Given the description of an element on the screen output the (x, y) to click on. 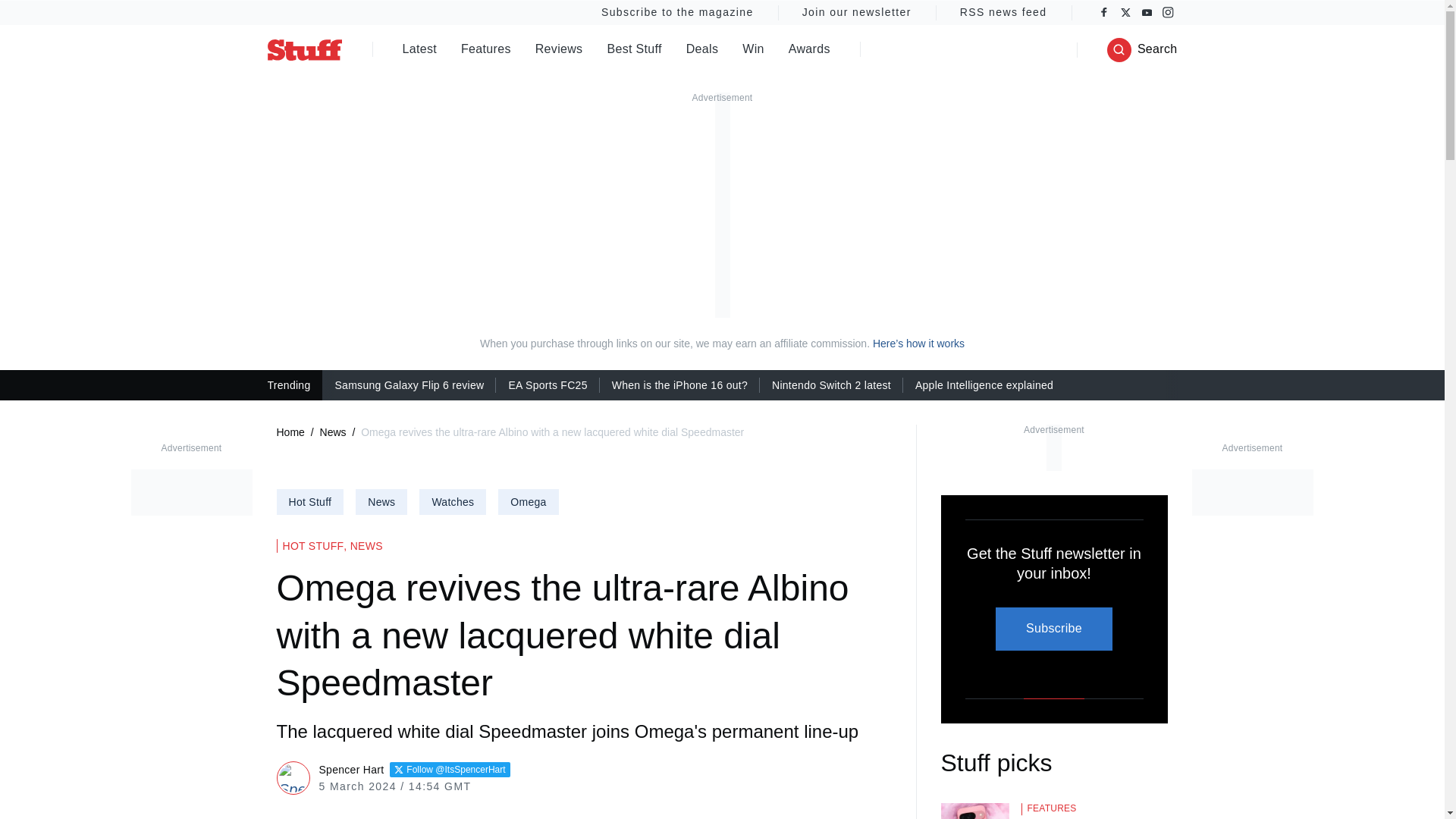
Stuff (303, 49)
Reviews (559, 50)
Best Stuff (634, 50)
Deals (702, 50)
Instagram (1167, 12)
Search (1141, 49)
Facebook (1103, 12)
RSS news feed (1003, 11)
YouTube (1146, 12)
Join our newsletter (856, 11)
